Given the description of an element on the screen output the (x, y) to click on. 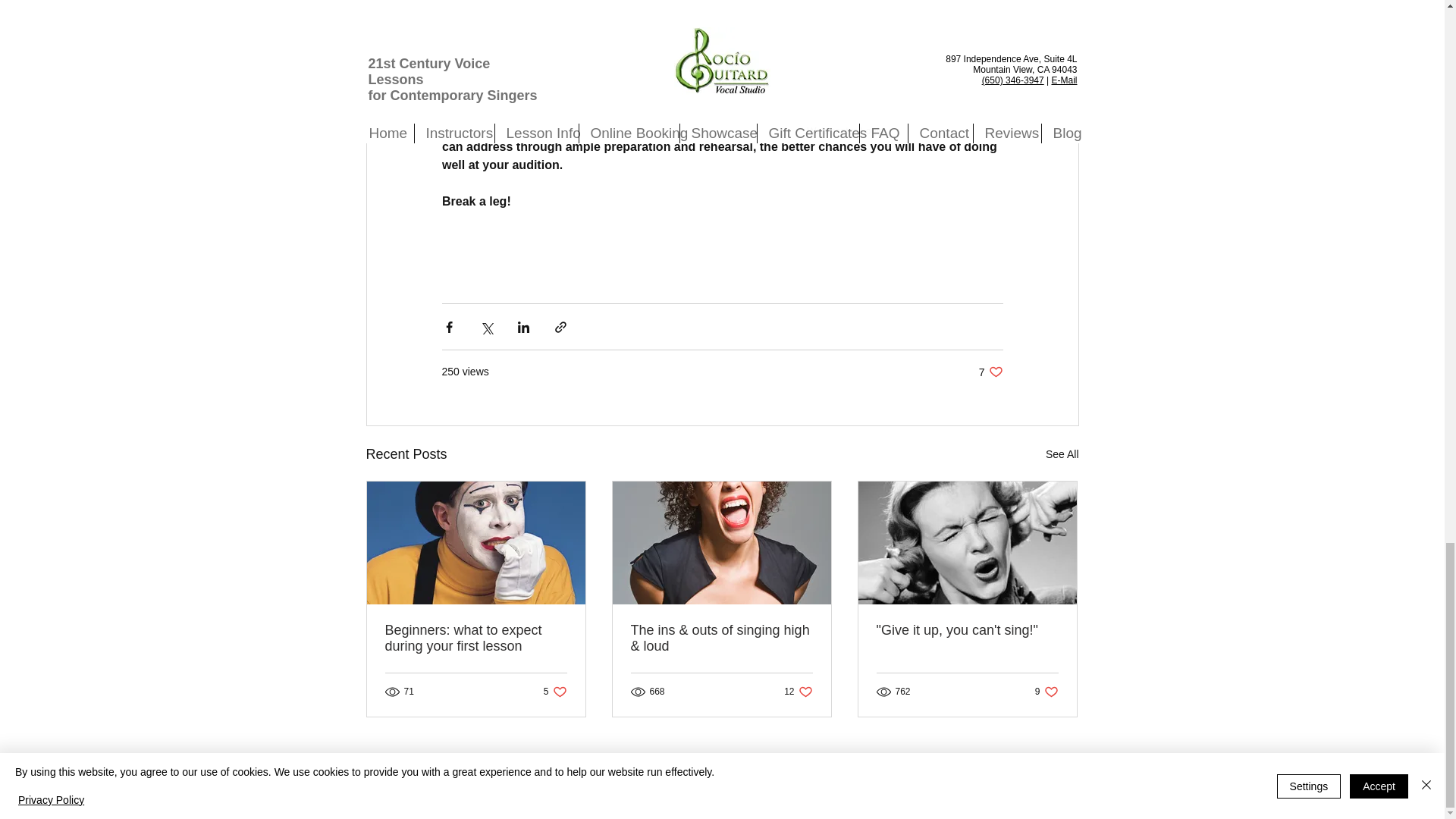
"Give it up, you can't sing!" (967, 630)
See All (555, 690)
Privacy Policy (1061, 454)
Terms of Service (679, 787)
Beginners: what to expect during your first lesson (757, 787)
